Given the description of an element on the screen output the (x, y) to click on. 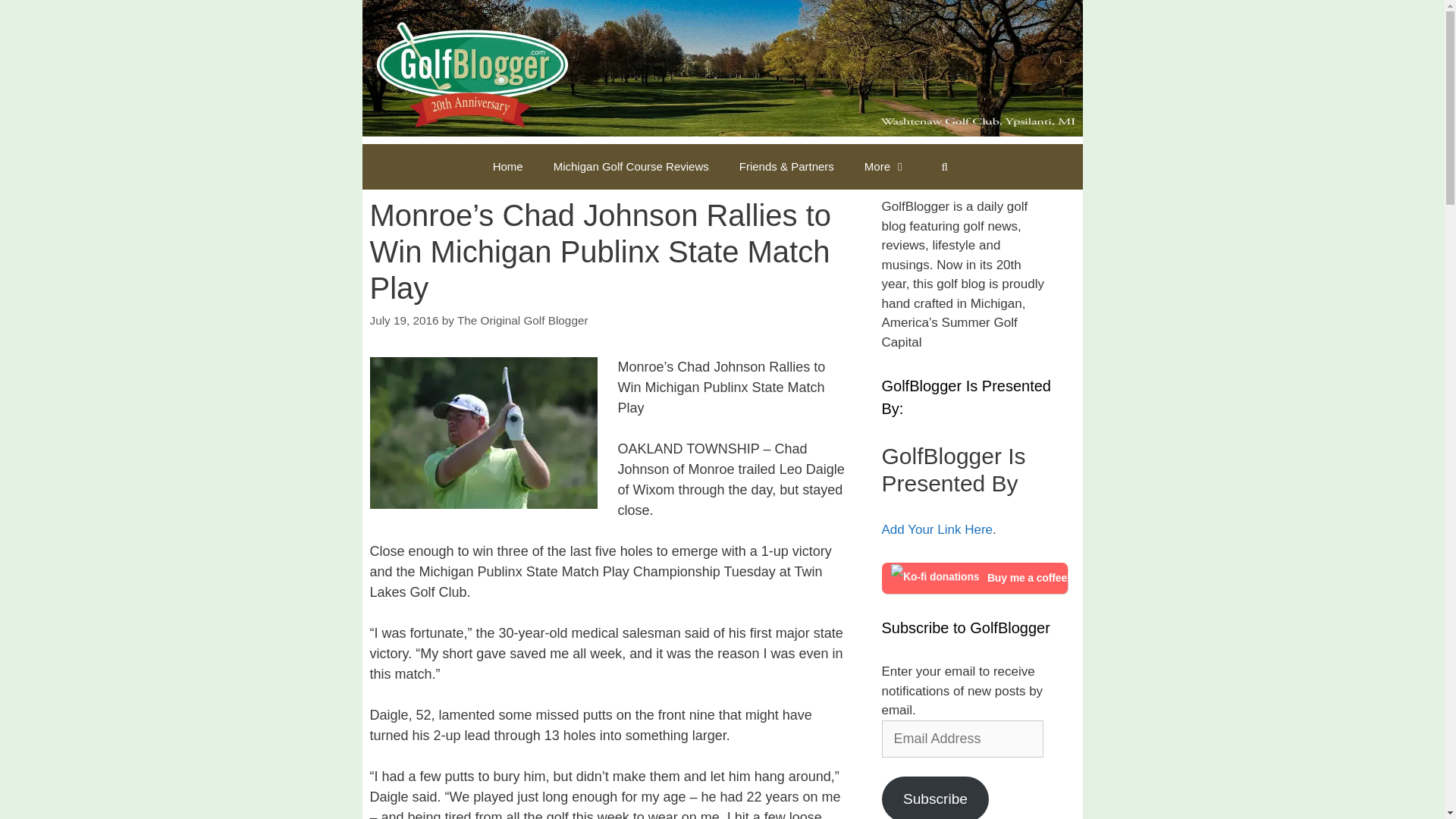
View all posts by The Original Golf Blogger (522, 319)
Add Your Link Here (936, 529)
Michigan Golf Course Reviews (630, 166)
Home (507, 166)
The Original Golf Blogger (522, 319)
Buy me a coffee! (973, 578)
More (884, 166)
